Given the description of an element on the screen output the (x, y) to click on. 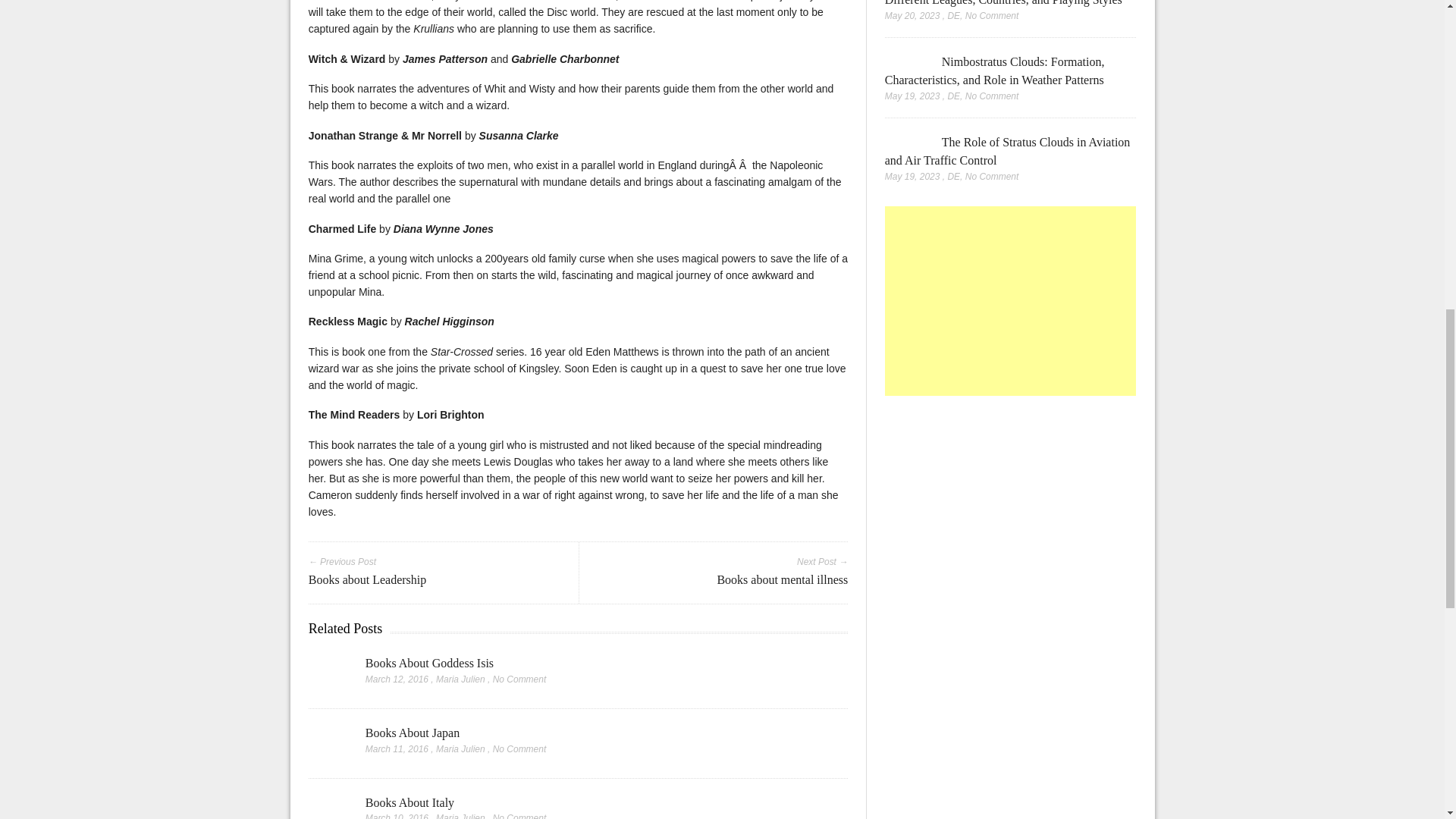
Posts by Maria Julien (459, 679)
Books About Japan (412, 732)
Posts by Maria Julien (459, 748)
Maria Julien (459, 816)
Books About Goddess Isis (429, 662)
No Comment (520, 679)
Books About Goddess Isis (429, 662)
Books About Italy (329, 806)
Maria Julien (459, 748)
Books About Goddess Isis (329, 675)
Maria Julien (459, 679)
Posts by Maria Julien (459, 816)
Books About Italy (409, 802)
Books About Japan (329, 744)
Books About Italy (409, 802)
